Given the description of an element on the screen output the (x, y) to click on. 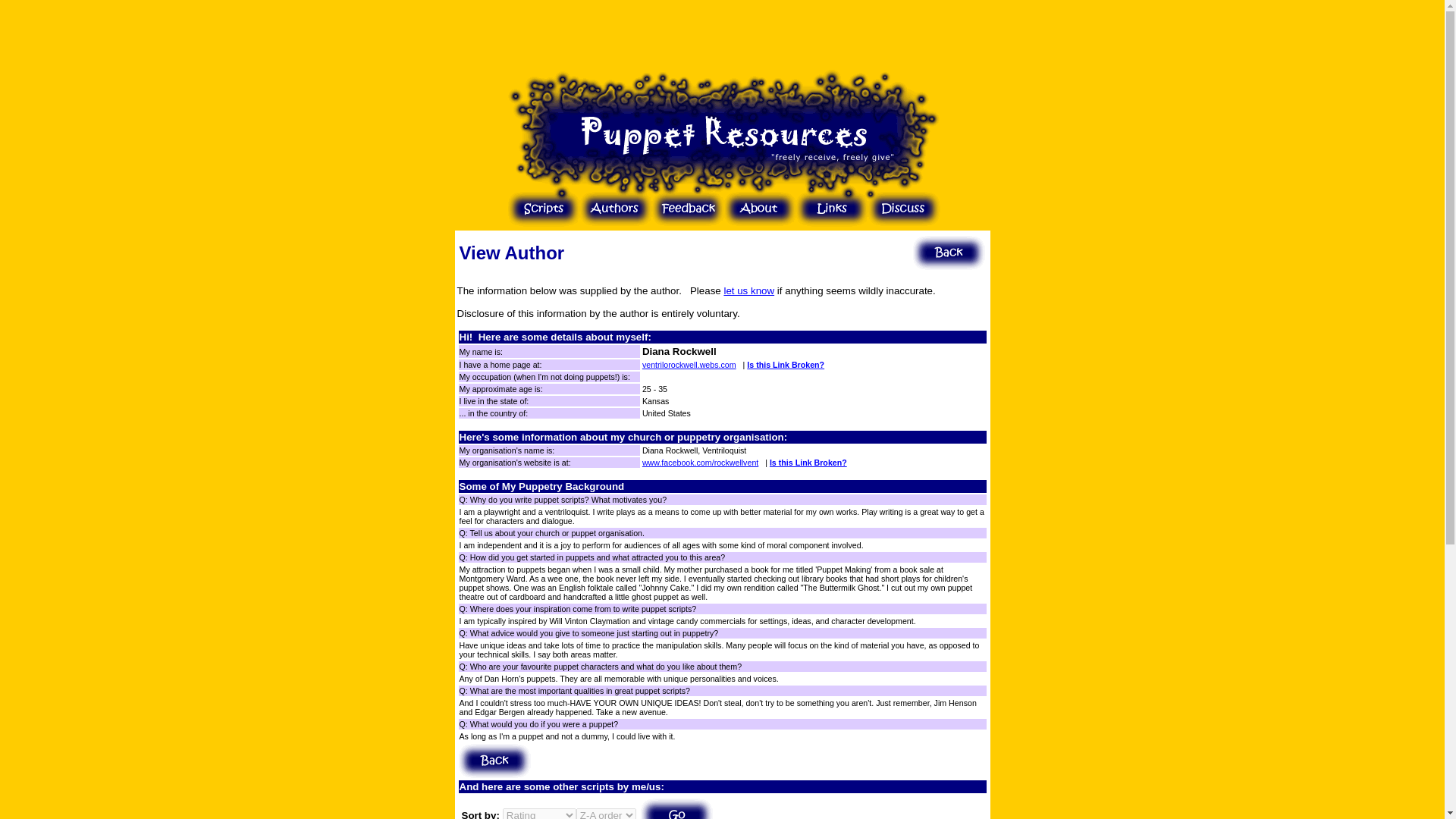
Is this Link Broken? (785, 364)
ventrilorockwell.webs.com (689, 364)
let us know (748, 290)
Advertisement (721, 33)
Is this Link Broken? (808, 461)
